Given the description of an element on the screen output the (x, y) to click on. 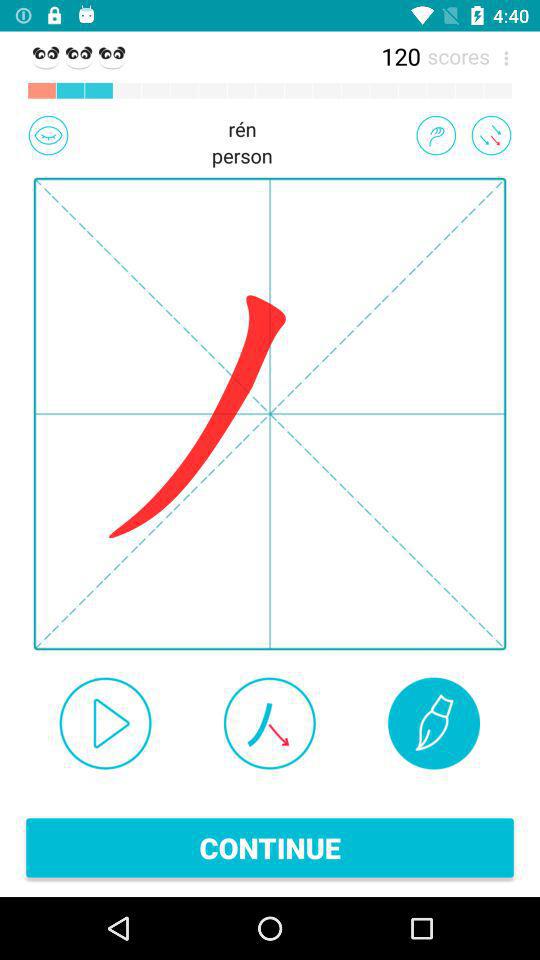
select the icon at the top right corner  (501, 55)
select the third box which is above ren person (98, 90)
select the image which is left to the text ren person (48, 135)
go to first option from right in the bottom second row (434, 723)
select a red bar which is on the top left corner of the page (42, 90)
select continue (269, 847)
